Given the description of an element on the screen output the (x, y) to click on. 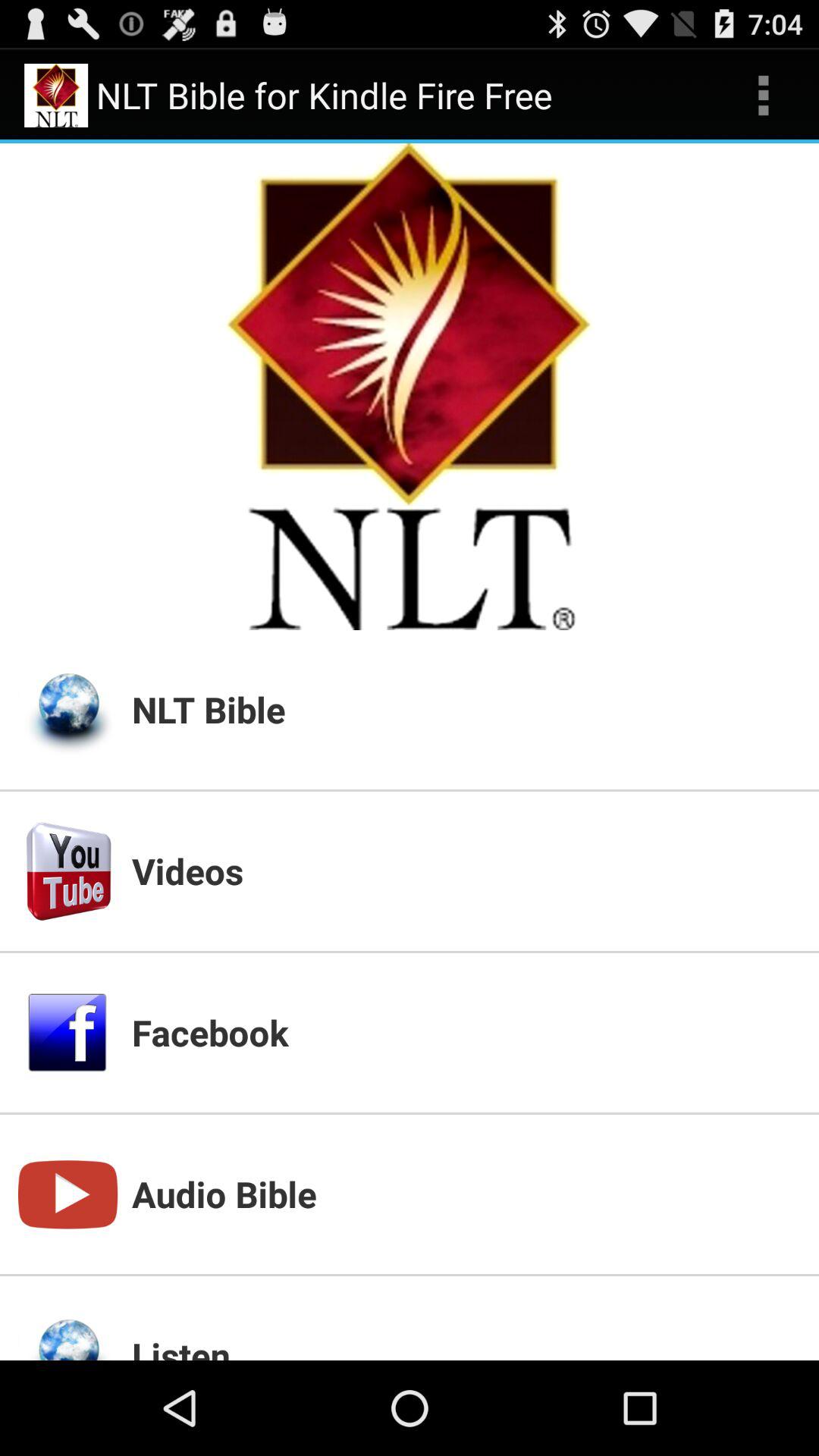
swipe until facebook item (465, 1032)
